Given the description of an element on the screen output the (x, y) to click on. 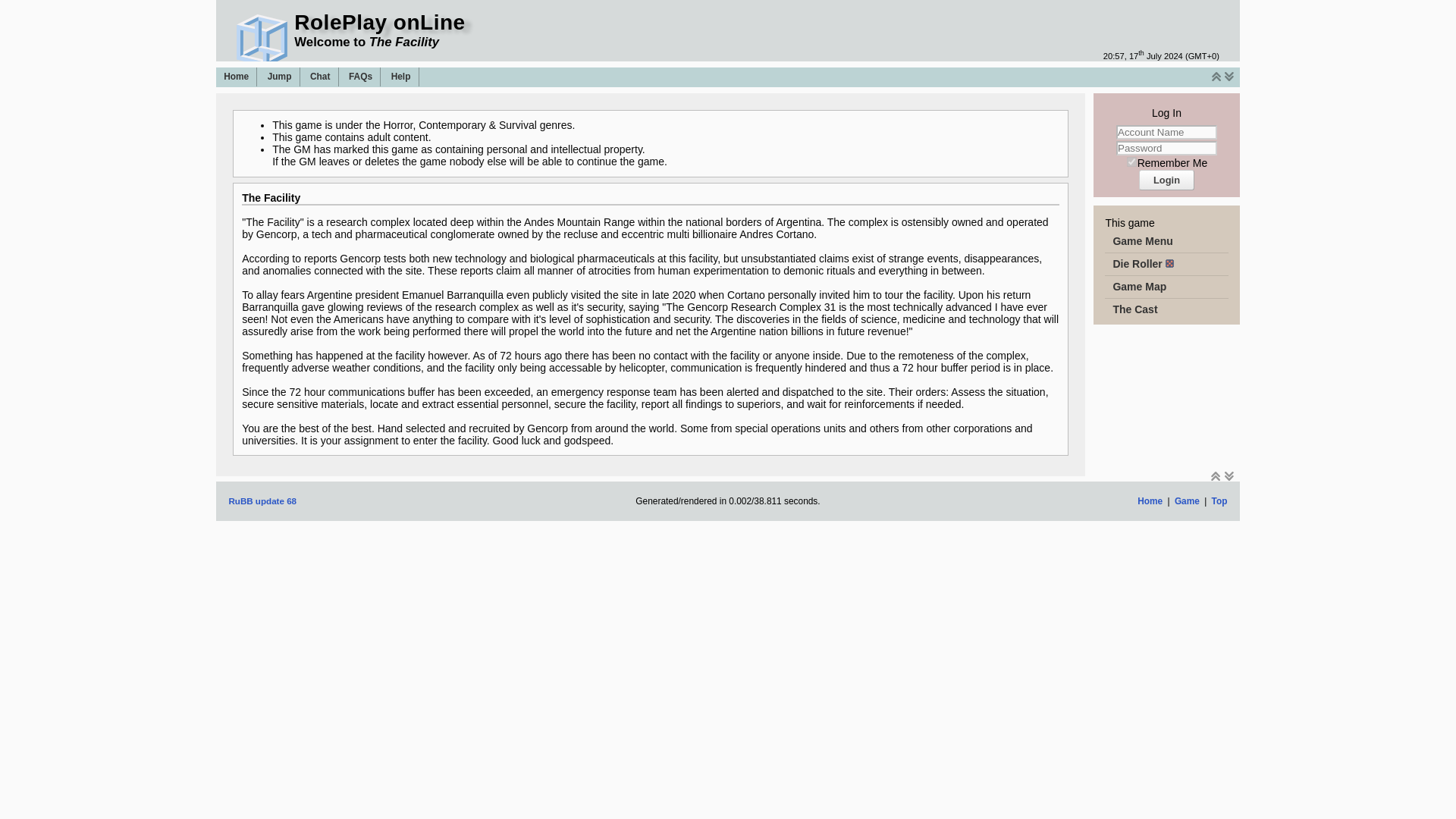
... in a new window! (320, 76)
Home (236, 76)
Help (400, 76)
Need help?  Click here for help on this page (400, 76)
Frequently Asked Questions (360, 76)
RolePlay onLine (379, 22)
Update 68 info! (262, 501)
RolePlay onLine (727, 502)
Jump (279, 76)
RuBB update 68 (262, 501)
... to game (279, 76)
Chat (320, 76)
FAQs (360, 76)
